Given the description of an element on the screen output the (x, y) to click on. 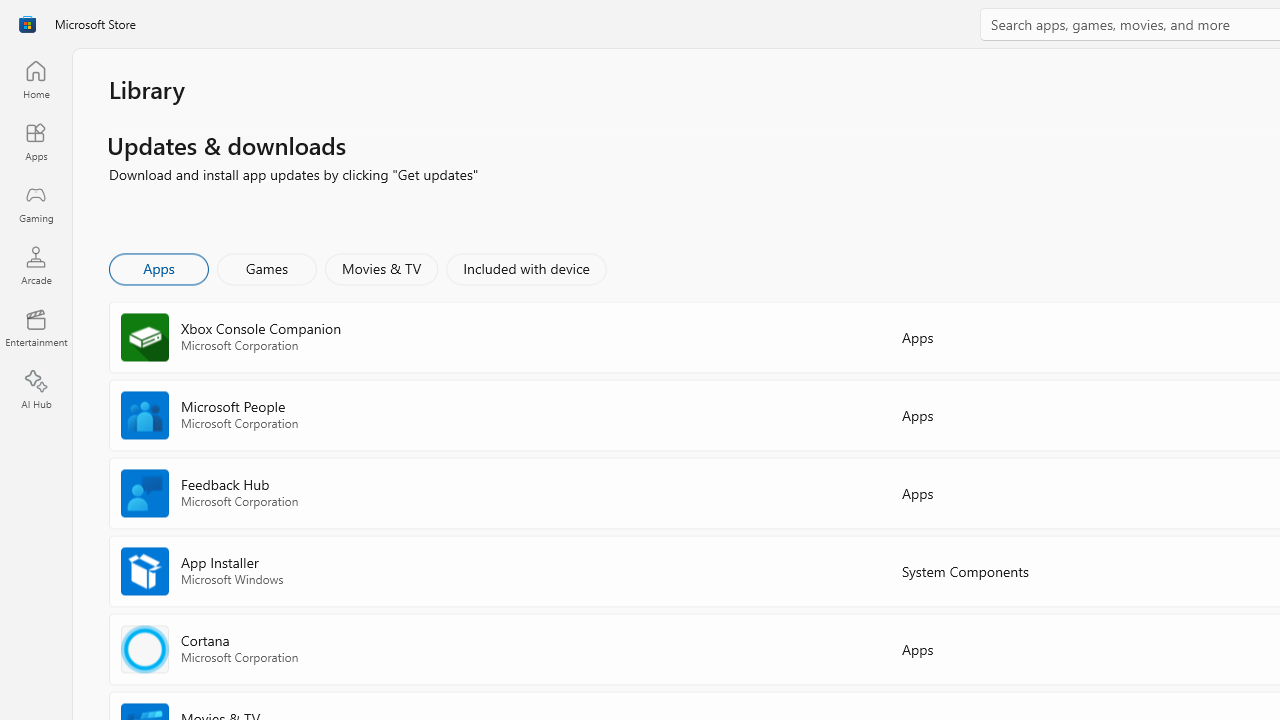
Movies & TV (381, 268)
Class: Image (27, 24)
Gaming (35, 203)
Home (35, 79)
Games (267, 268)
Apps (35, 141)
Apps (158, 268)
Arcade (35, 265)
Included with device (525, 268)
Entertainment (35, 327)
AI Hub (35, 390)
